Given the description of an element on the screen output the (x, y) to click on. 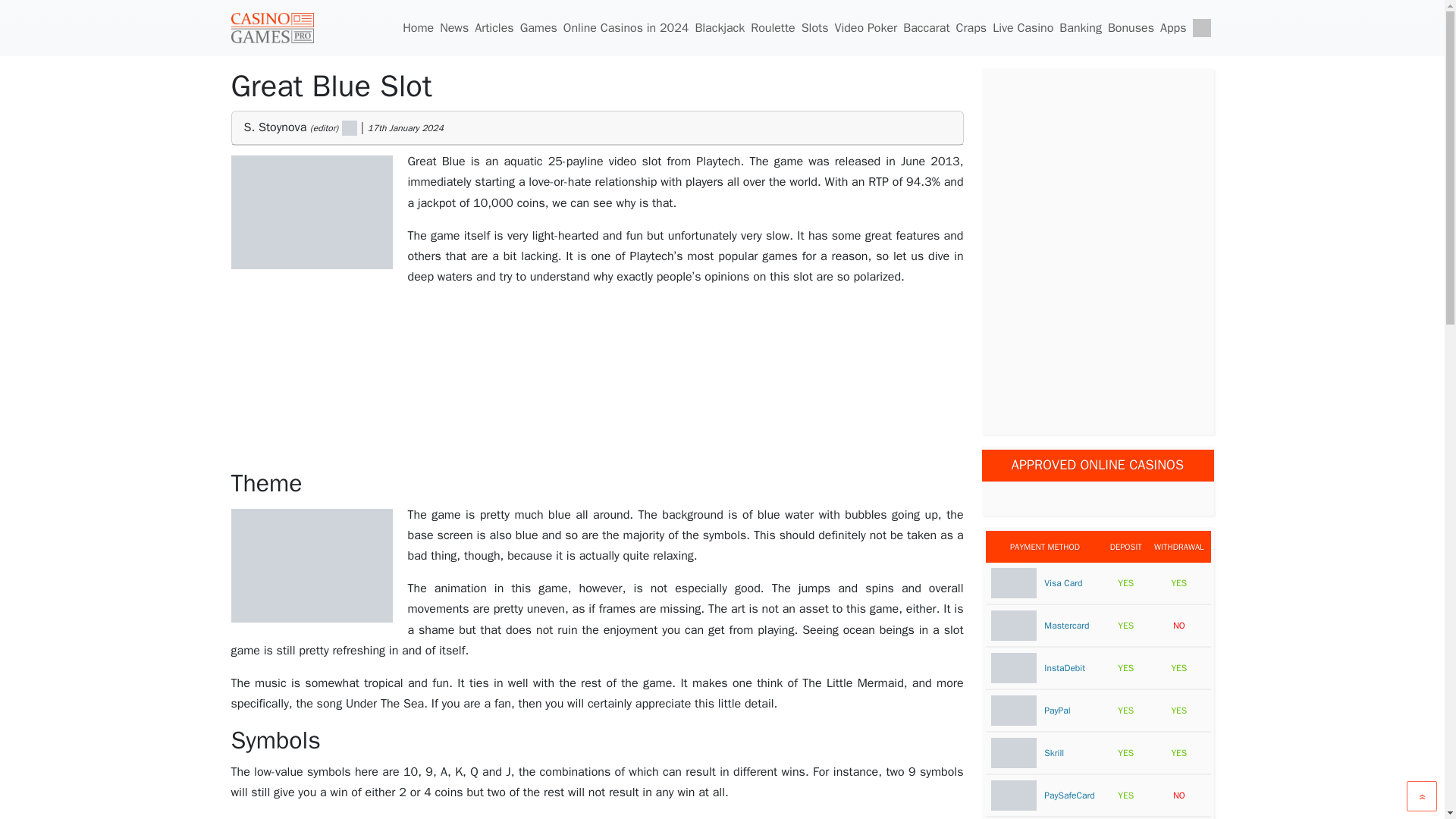
Video Poker (865, 28)
Bonuses (1131, 28)
Blackjack (719, 28)
Home (417, 28)
Baccarat (925, 28)
Games (538, 28)
Blackjack (719, 28)
News (453, 28)
Articles (493, 28)
Roulette (772, 28)
